Given the description of an element on the screen output the (x, y) to click on. 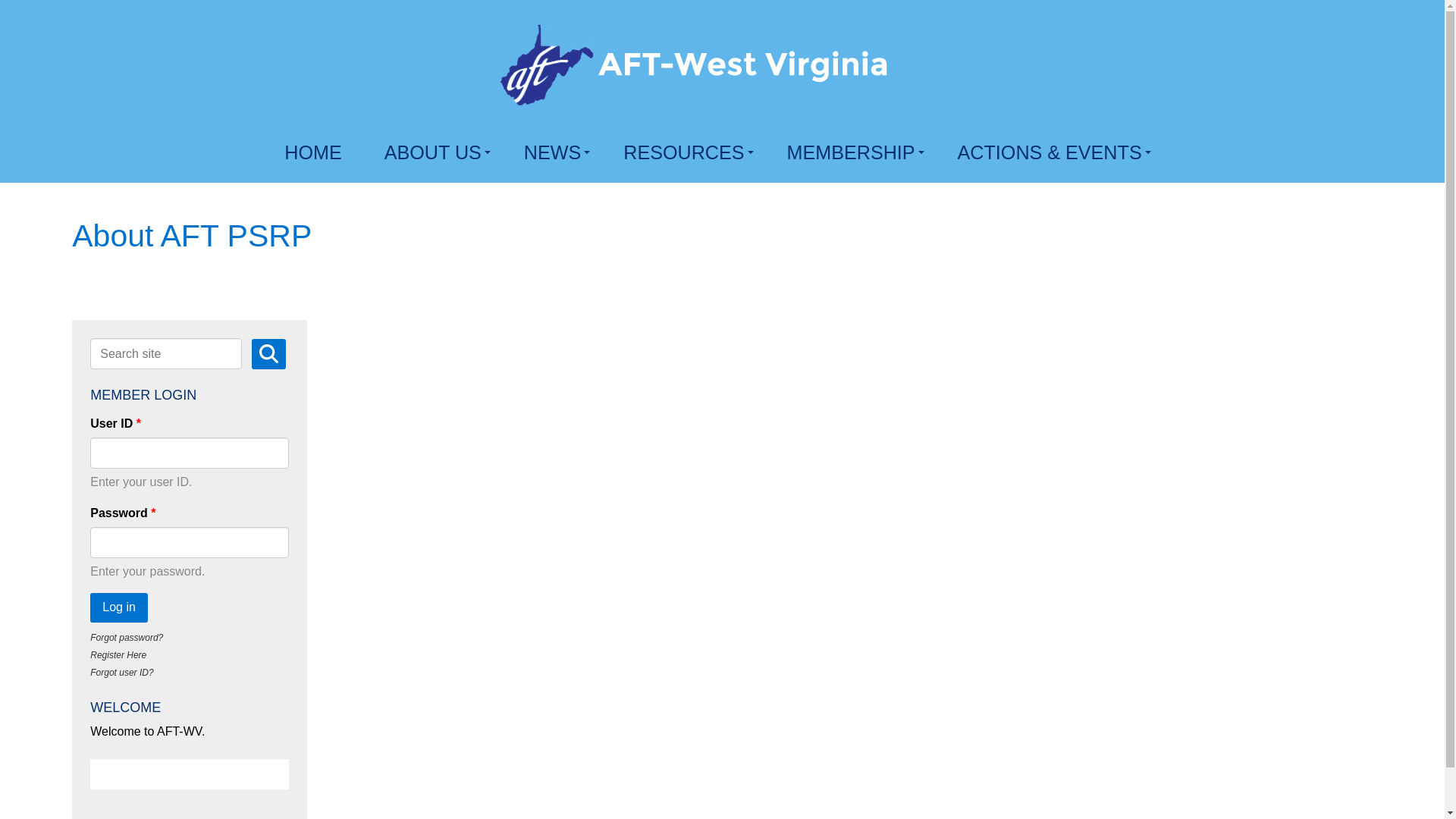
Log in (119, 606)
Forgot password? (126, 637)
Log in (119, 606)
HOME (315, 151)
Forgot user ID? (121, 672)
